Given the description of an element on the screen output the (x, y) to click on. 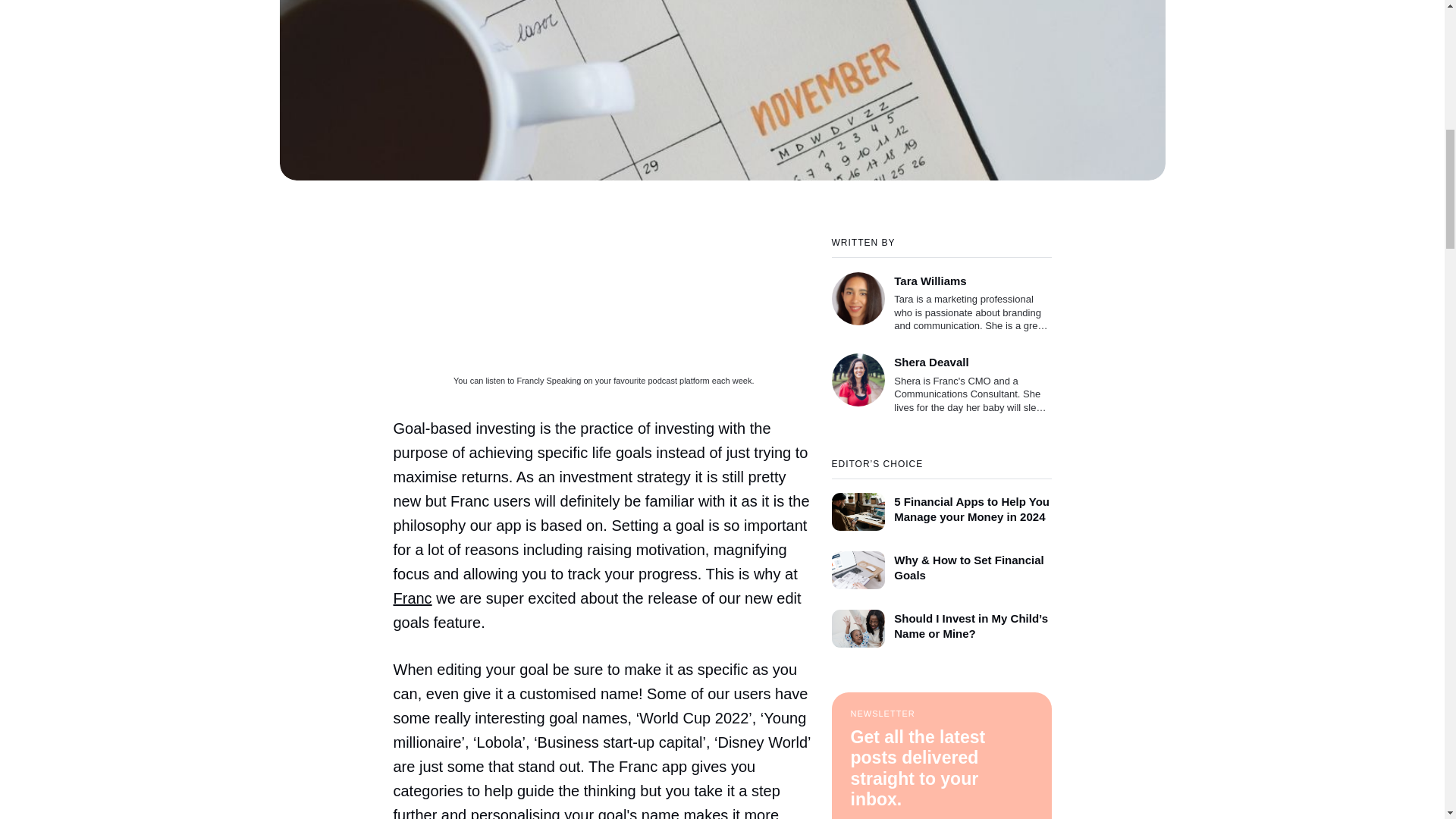
Franc (411, 597)
5 Financial Apps to Help You Manage your Money in 2024 (941, 504)
Spotify Embed: Setting and Achieving Your Financial Goals (603, 295)
